Given the description of an element on the screen output the (x, y) to click on. 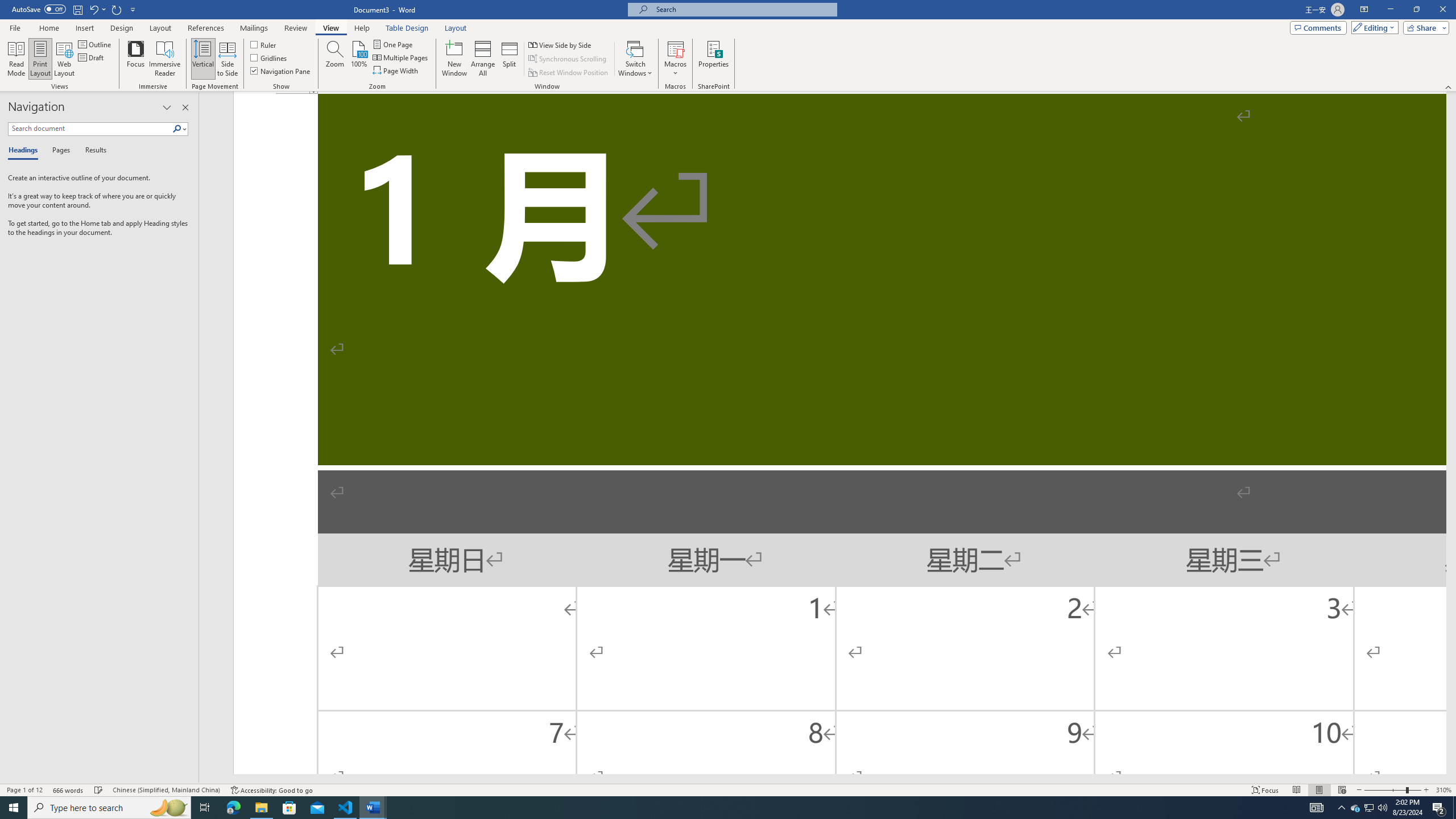
Read Mode (1296, 790)
Repeat Doc Close (117, 9)
Header -Section 1- (838, 92)
Ribbon Display Options (1364, 9)
100% (358, 58)
Zoom... (334, 58)
Print Layout (1318, 790)
Macros (675, 58)
Headings (25, 150)
Insert (83, 28)
Language Chinese (Simplified, Mainland China) (165, 790)
Design (122, 28)
Comments (1318, 27)
Quick Access Toolbar (74, 9)
